Given the description of an element on the screen output the (x, y) to click on. 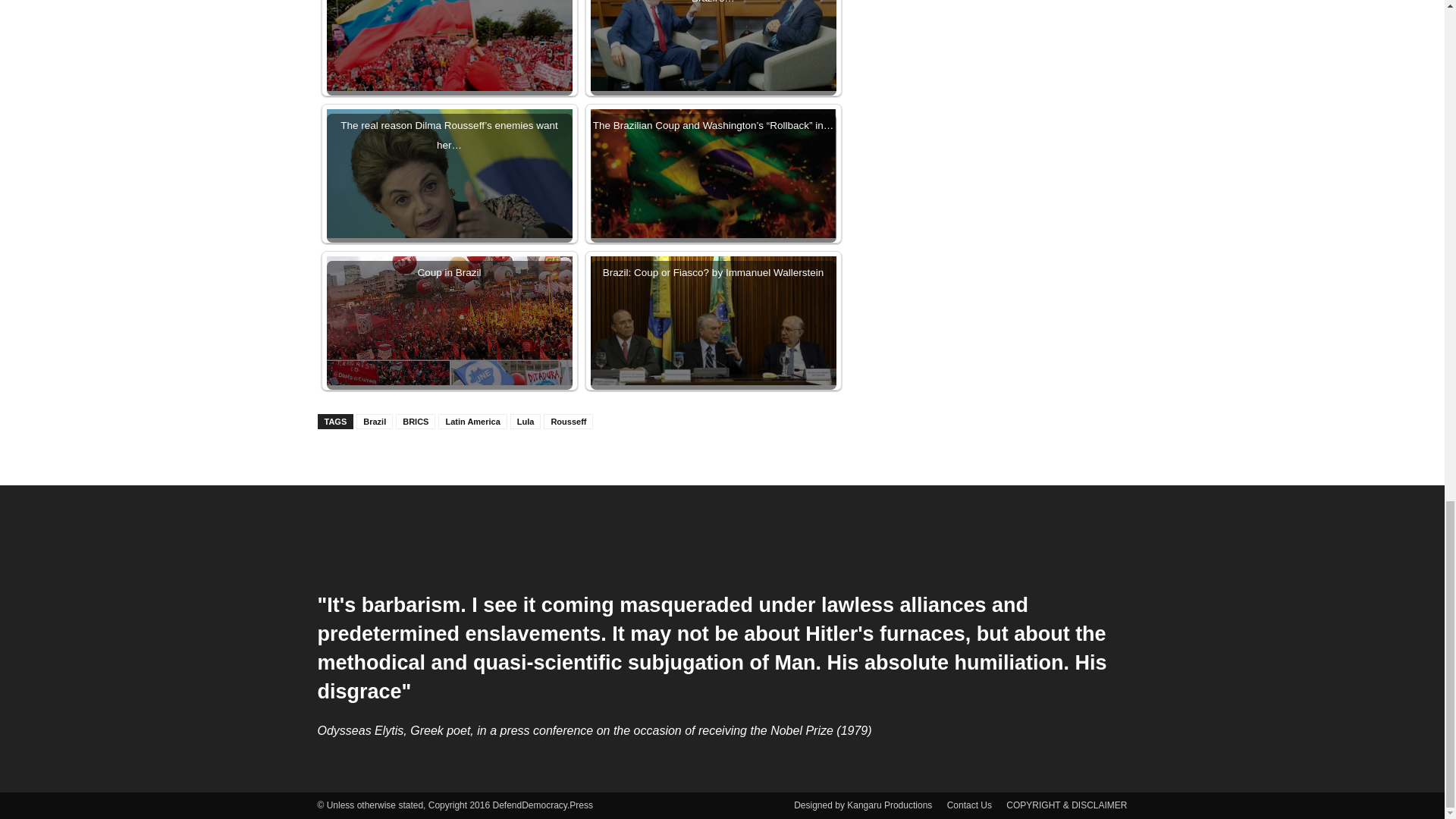
Coup in Brazil (449, 339)
Brazil: Coup or Fiasco? by Immanuel Wallerstein (712, 320)
Left debates Venezuela (449, 73)
